Given the description of an element on the screen output the (x, y) to click on. 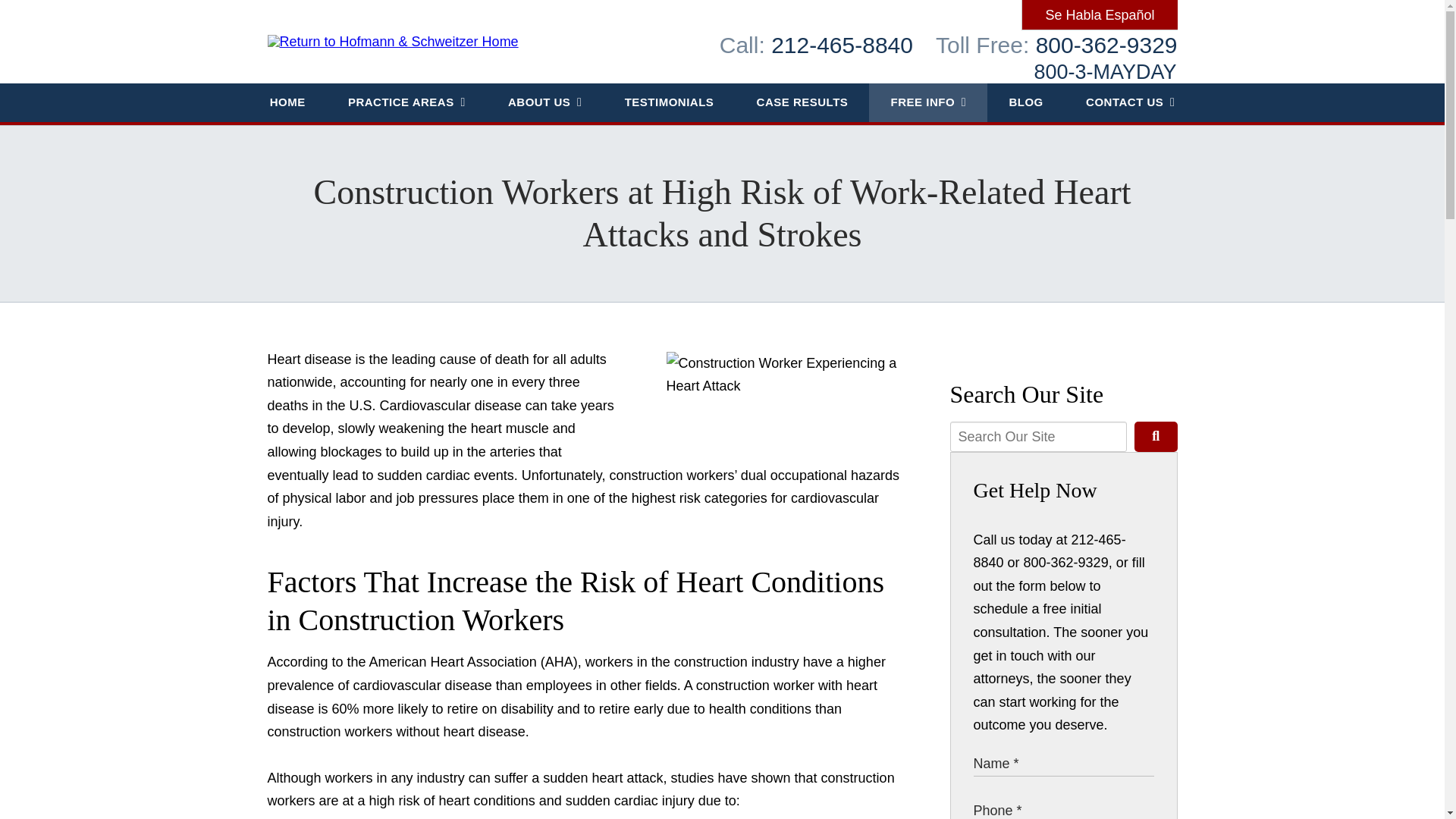
Search (1155, 436)
BLOG (1025, 102)
TESTIMONIALS (669, 102)
ABOUT US (545, 102)
PRACTICE AREAS (406, 102)
CONTACT US (1130, 102)
HOME (287, 102)
CASE RESULTS (802, 102)
FREE INFO (928, 102)
